Given the description of an element on the screen output the (x, y) to click on. 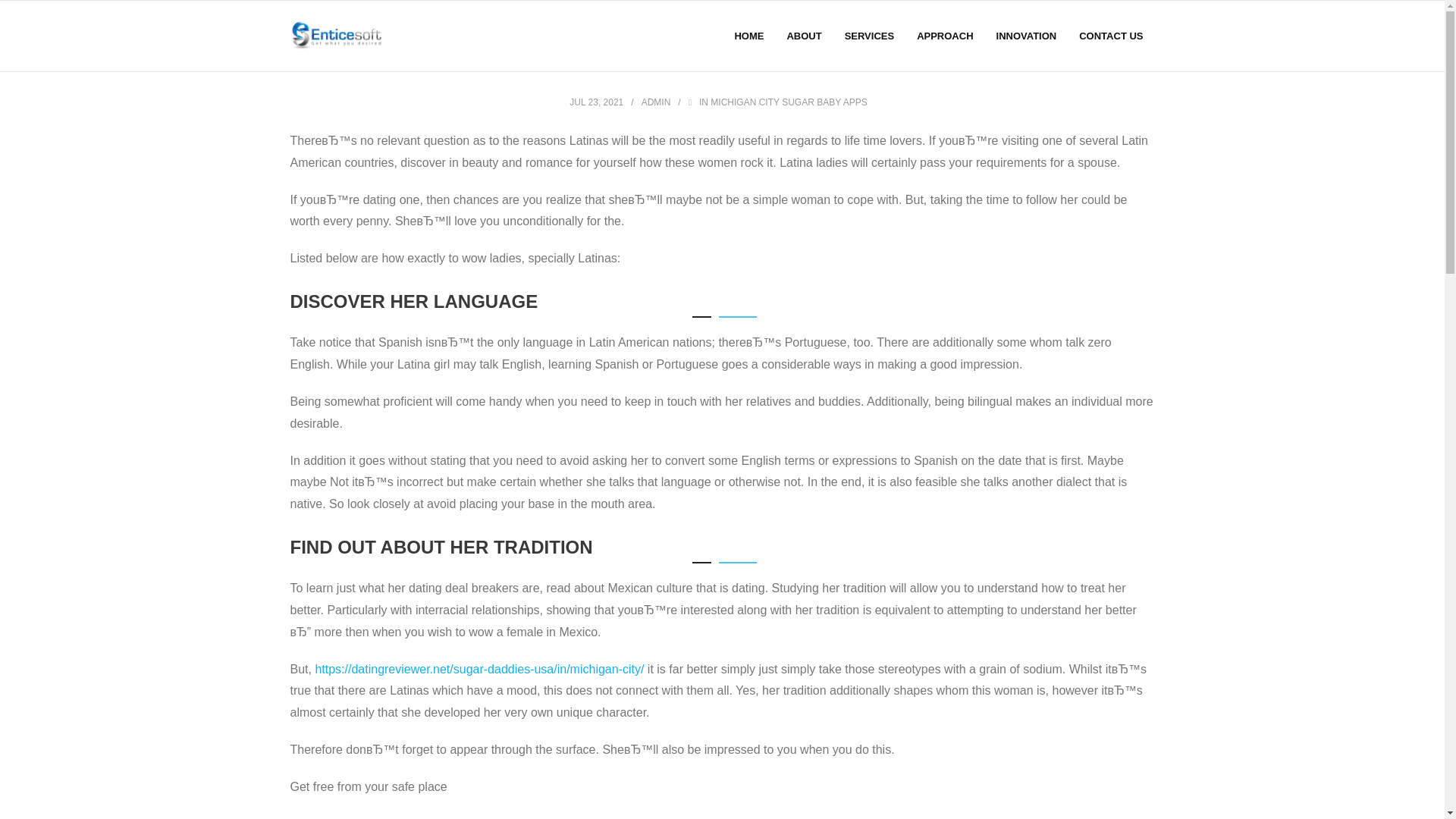
IN MICHIGAN CITY SUGAR BABY APPS (782, 102)
CONTACT US (1110, 35)
JUL 23, 2021 (596, 102)
INNOVATION (1026, 35)
Simple tips to Wow Latina Ladies:What You Should Understand (596, 102)
APPROACH (944, 35)
View all posts by admin (656, 102)
SERVICES (868, 35)
ADMIN (656, 102)
